Given the description of an element on the screen output the (x, y) to click on. 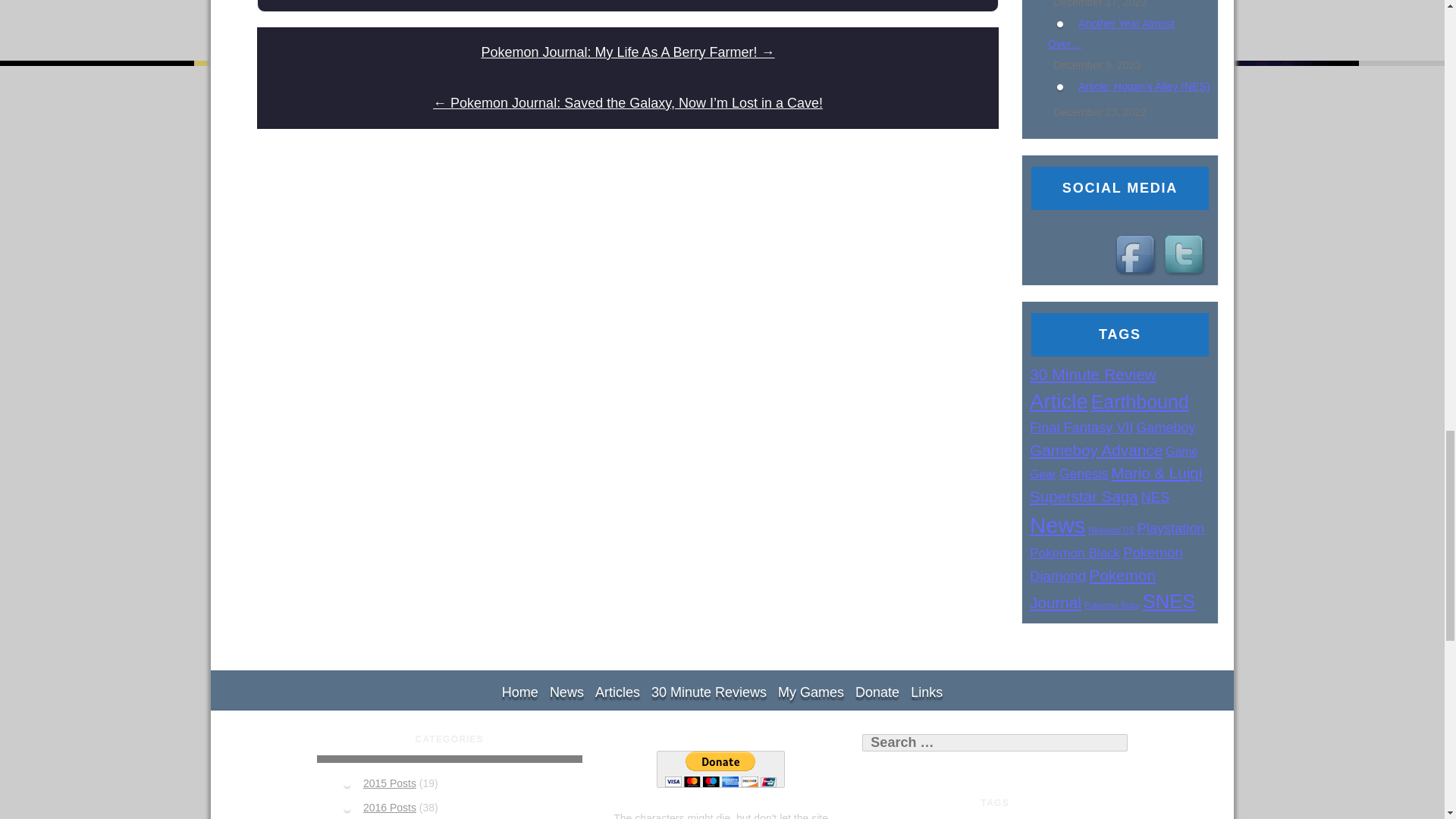
facebook (1137, 255)
twitter (1185, 255)
